Given the description of an element on the screen output the (x, y) to click on. 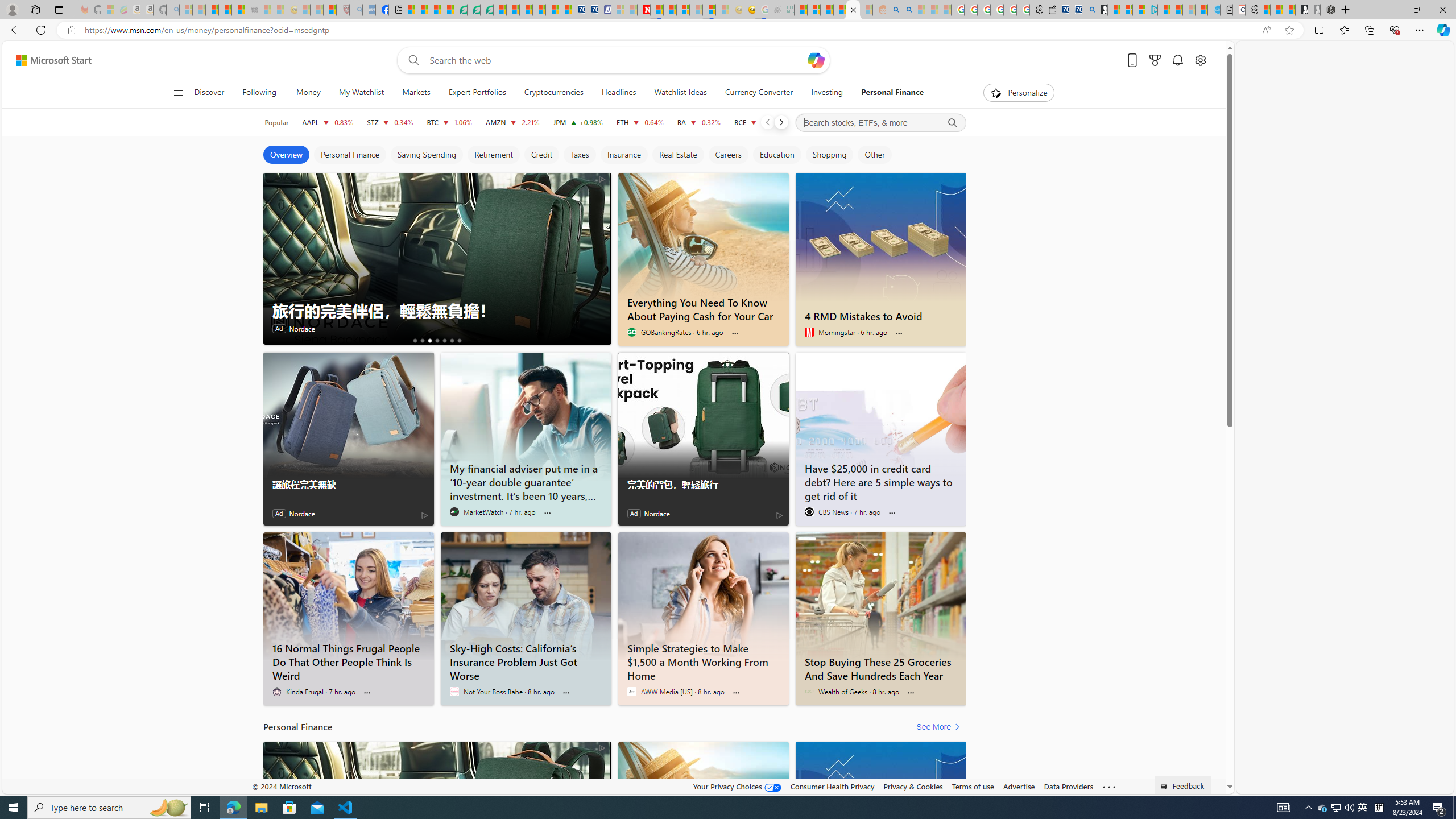
Next (780, 122)
Search stocks, ETFs, & more (880, 122)
Currency Converter (758, 92)
See More (939, 726)
Local - MSN (329, 9)
Credit (541, 154)
